Given the description of an element on the screen output the (x, y) to click on. 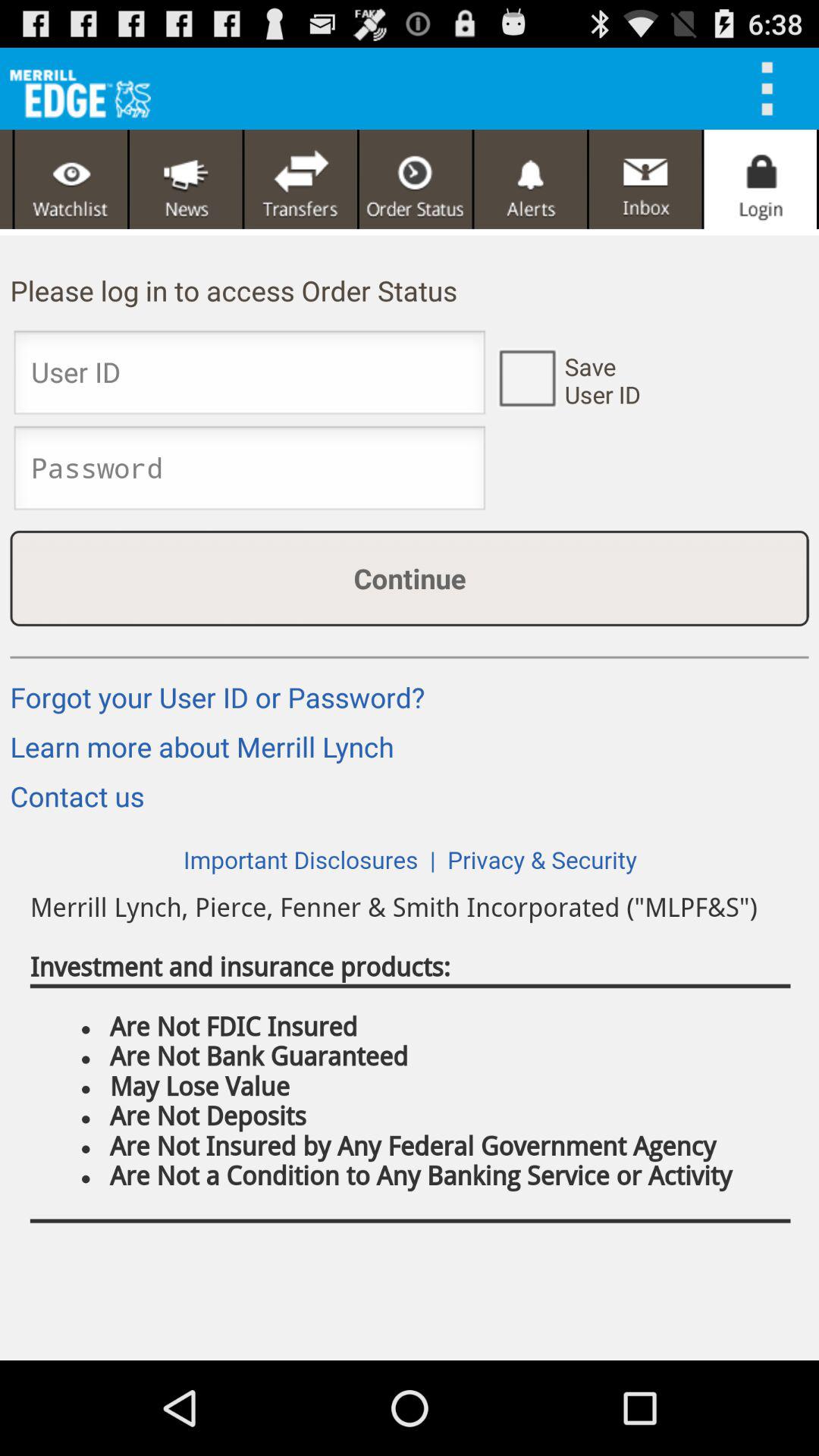
see the vedio (70, 179)
